Given the description of an element on the screen output the (x, y) to click on. 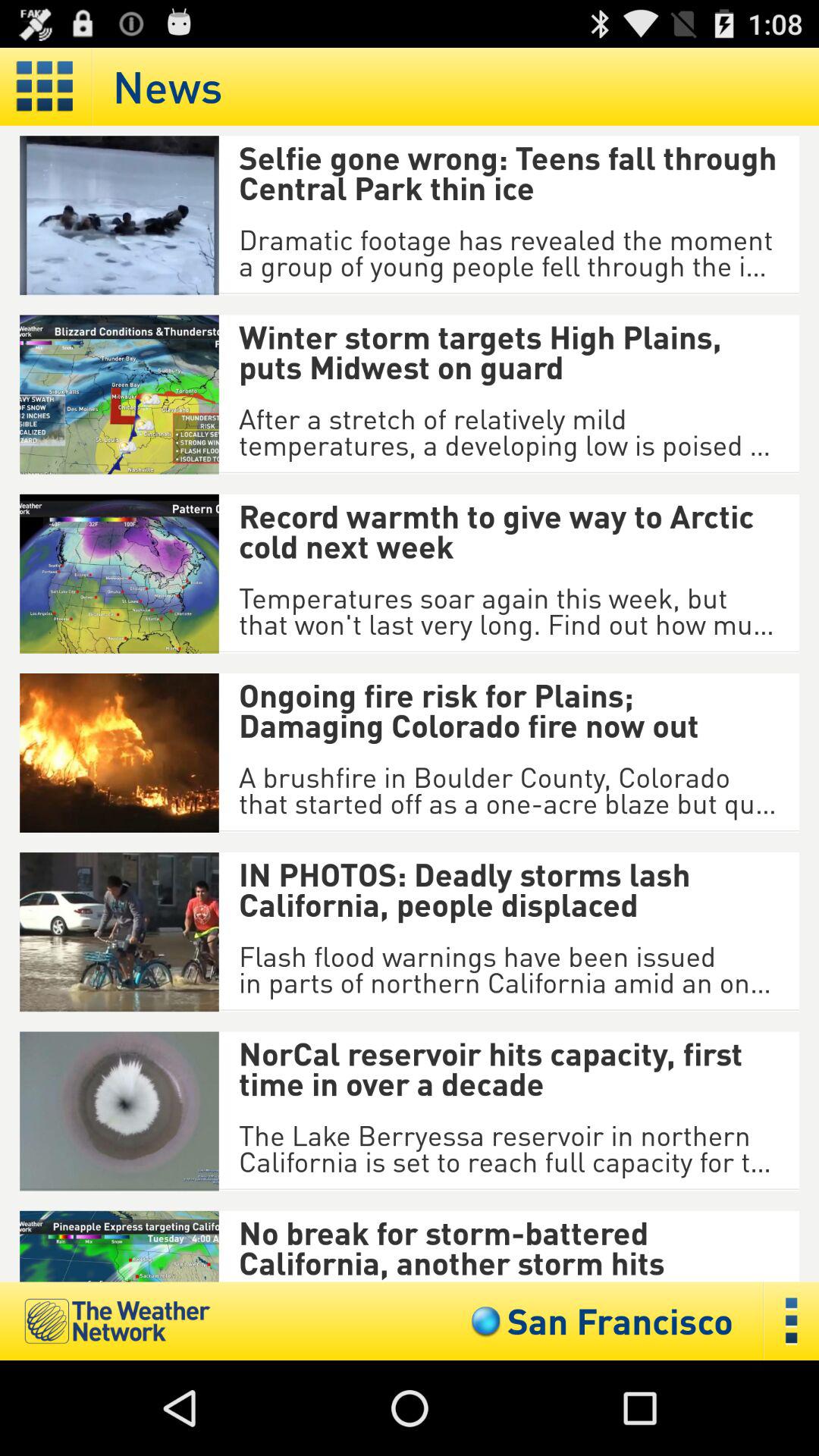
more options (791, 1320)
